Given the description of an element on the screen output the (x, y) to click on. 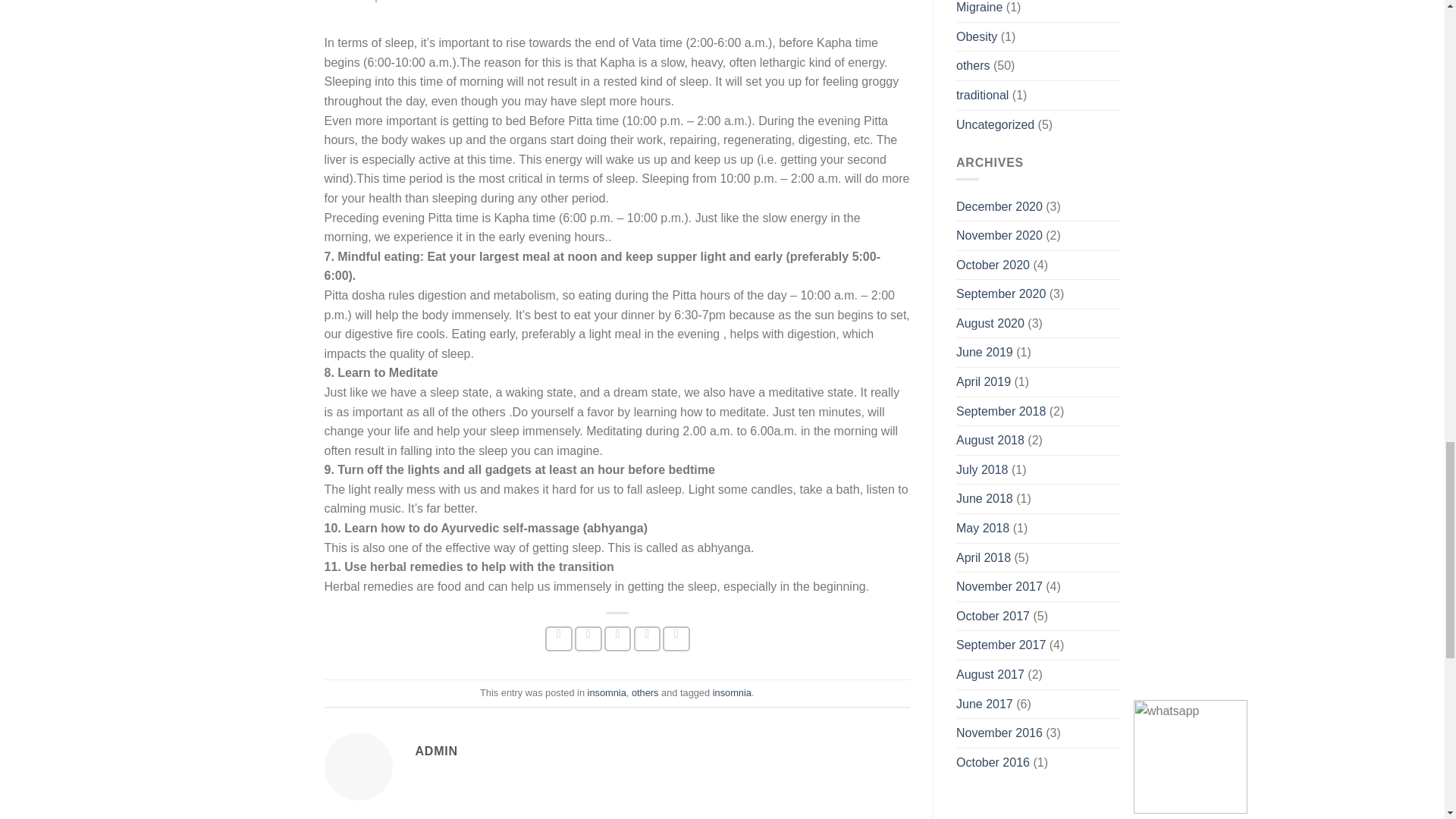
Share on Facebook (558, 638)
Pin on Pinterest (647, 638)
Share on Twitter (588, 638)
Share on LinkedIn (676, 638)
Email to a Friend (617, 638)
